Given the description of an element on the screen output the (x, y) to click on. 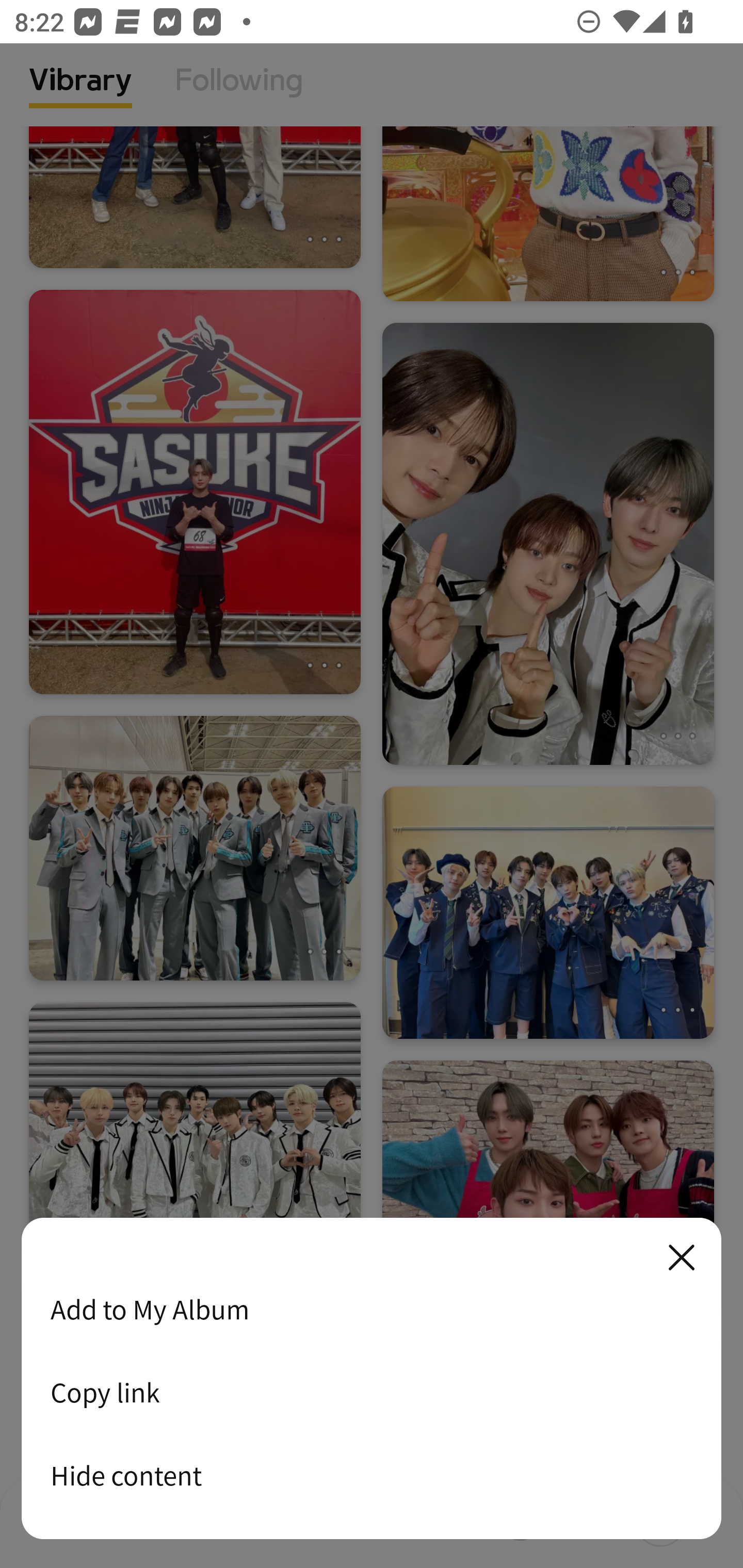
Add to My Album Copy link Hide content (371, 1378)
Add to My Album (371, 1308)
Copy link (371, 1391)
Hide content (371, 1474)
